Given the description of an element on the screen output the (x, y) to click on. 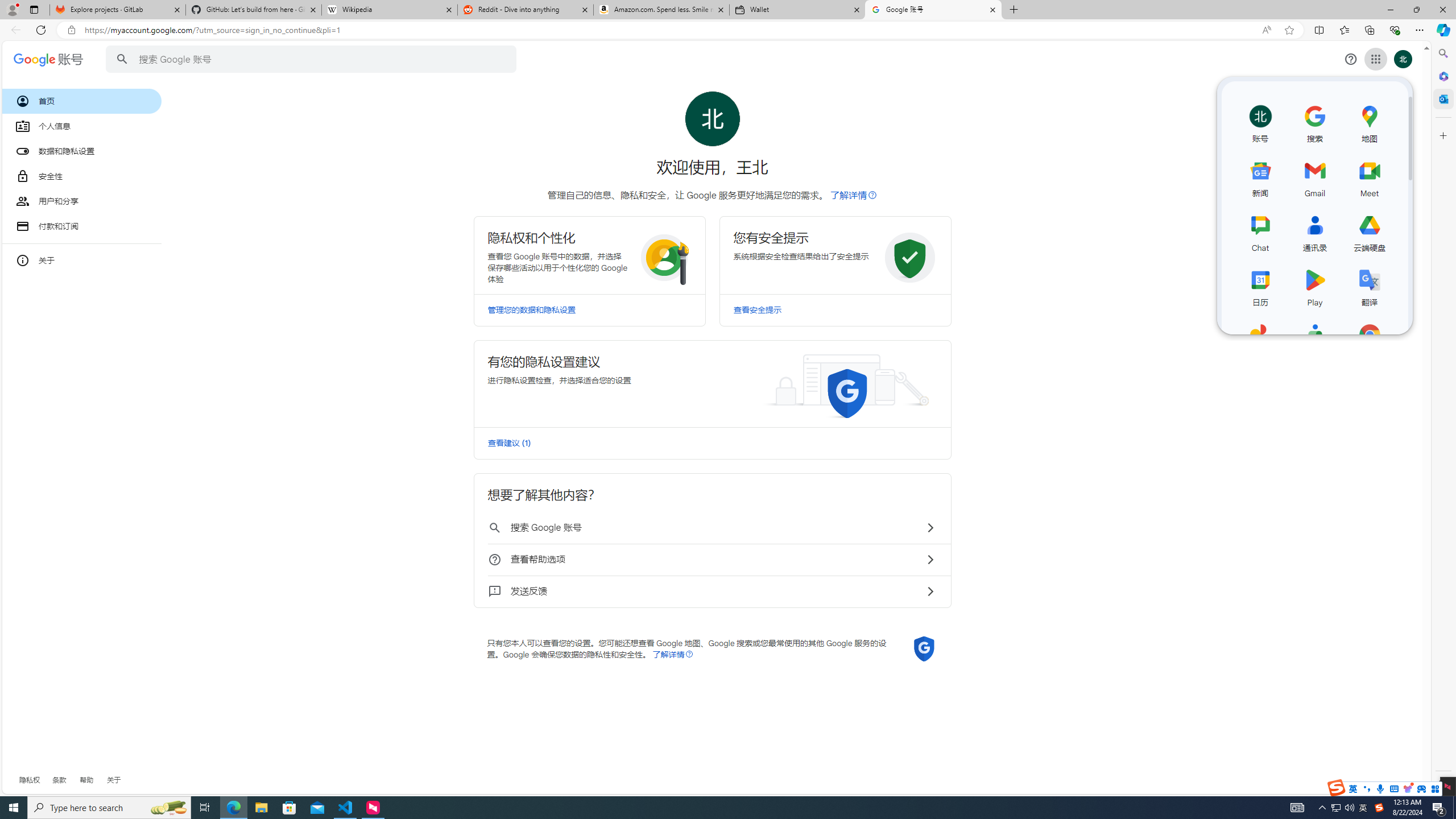
Chrome (1369, 340)
